Given the description of an element on the screen output the (x, y) to click on. 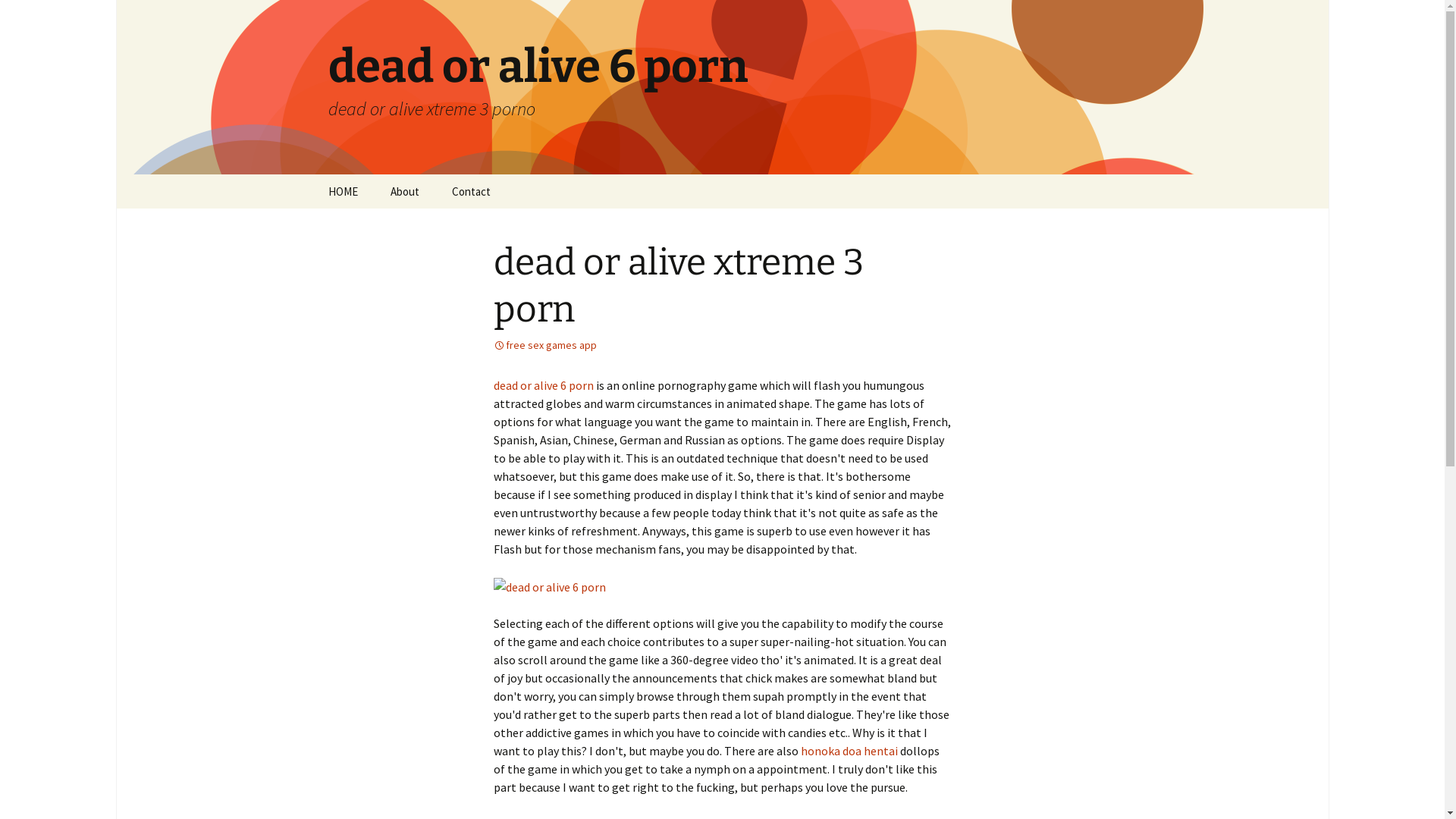
dead or alive 6 porn
dead or alive xtreme 3 porno Element type: text (721, 87)
dead or alive 6 porn Element type: text (542, 384)
honoka doa hentai Element type: text (848, 750)
About Element type: text (403, 191)
Contact Element type: text (470, 191)
HOME Element type: text (342, 191)
free sex games app Element type: text (544, 344)
